Given the description of an element on the screen output the (x, y) to click on. 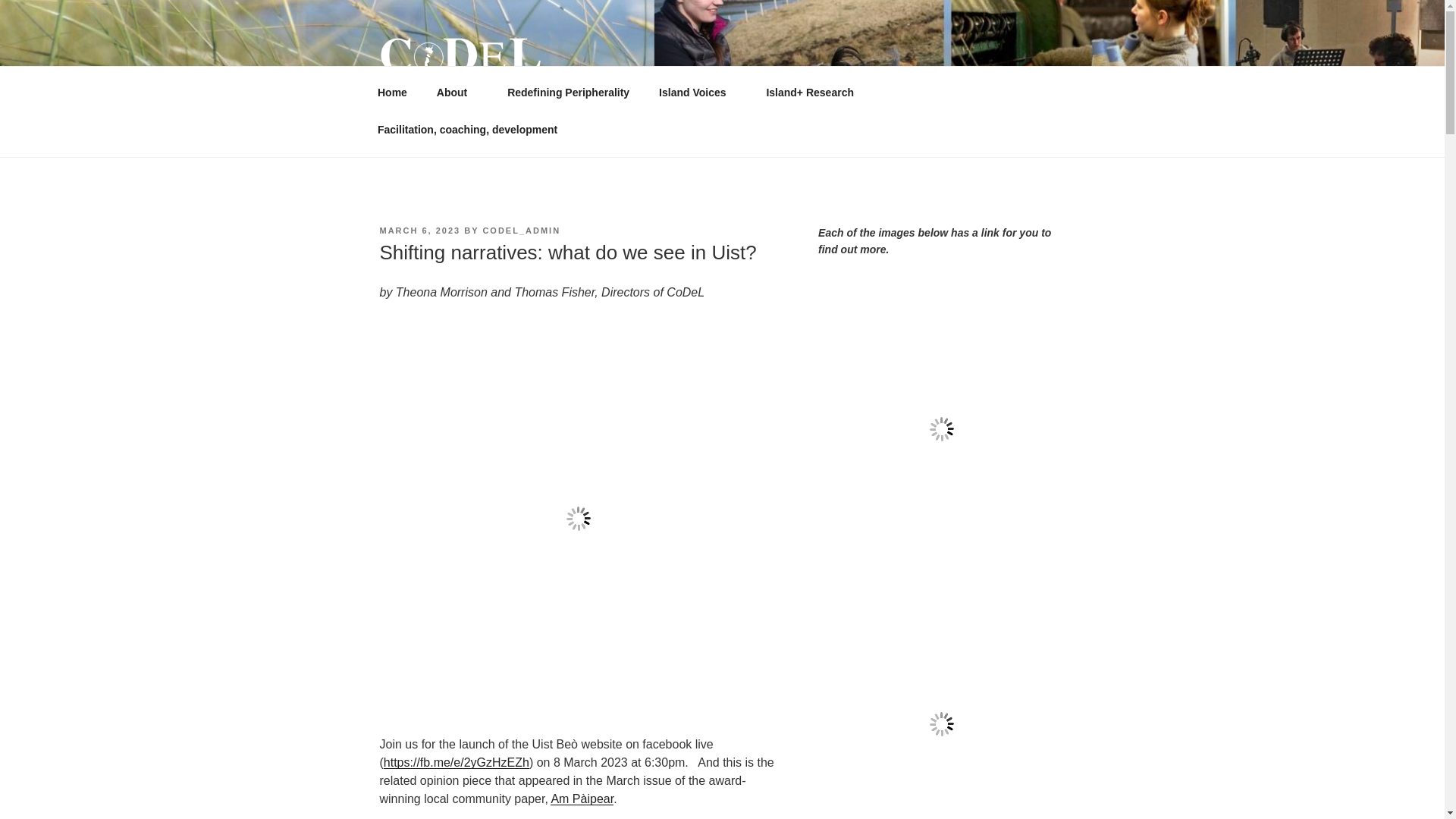
Facilitation, coaching, development (467, 129)
Island Voices (697, 92)
Home (392, 92)
MARCH 6, 2023 (419, 230)
About (456, 92)
Redefining Peripherality (569, 92)
